Given the description of an element on the screen output the (x, y) to click on. 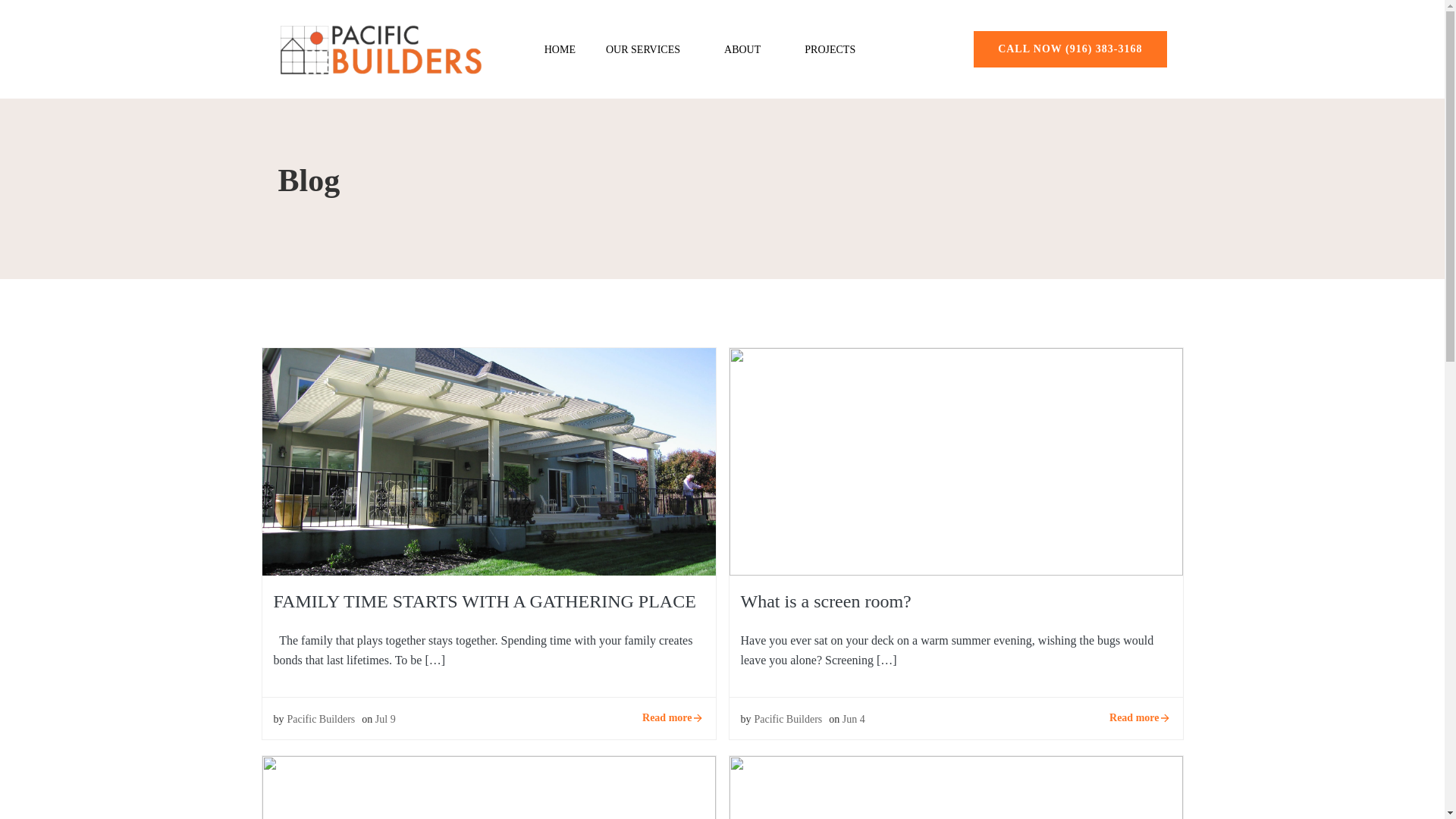
FAMILY TIME STARTS WITH A GATHERING PLACE (489, 460)
PROJECTS (830, 48)
OUR SERVICES (649, 47)
What is a screen room? (955, 460)
ABOUT (748, 48)
HOME (559, 46)
